Given the description of an element on the screen output the (x, y) to click on. 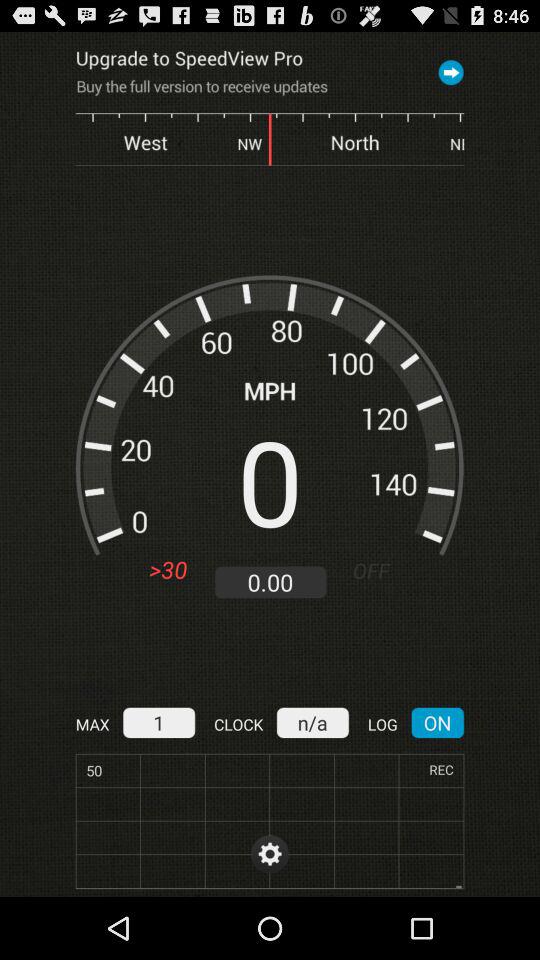
tap the icon below 1 app (269, 821)
